Given the description of an element on the screen output the (x, y) to click on. 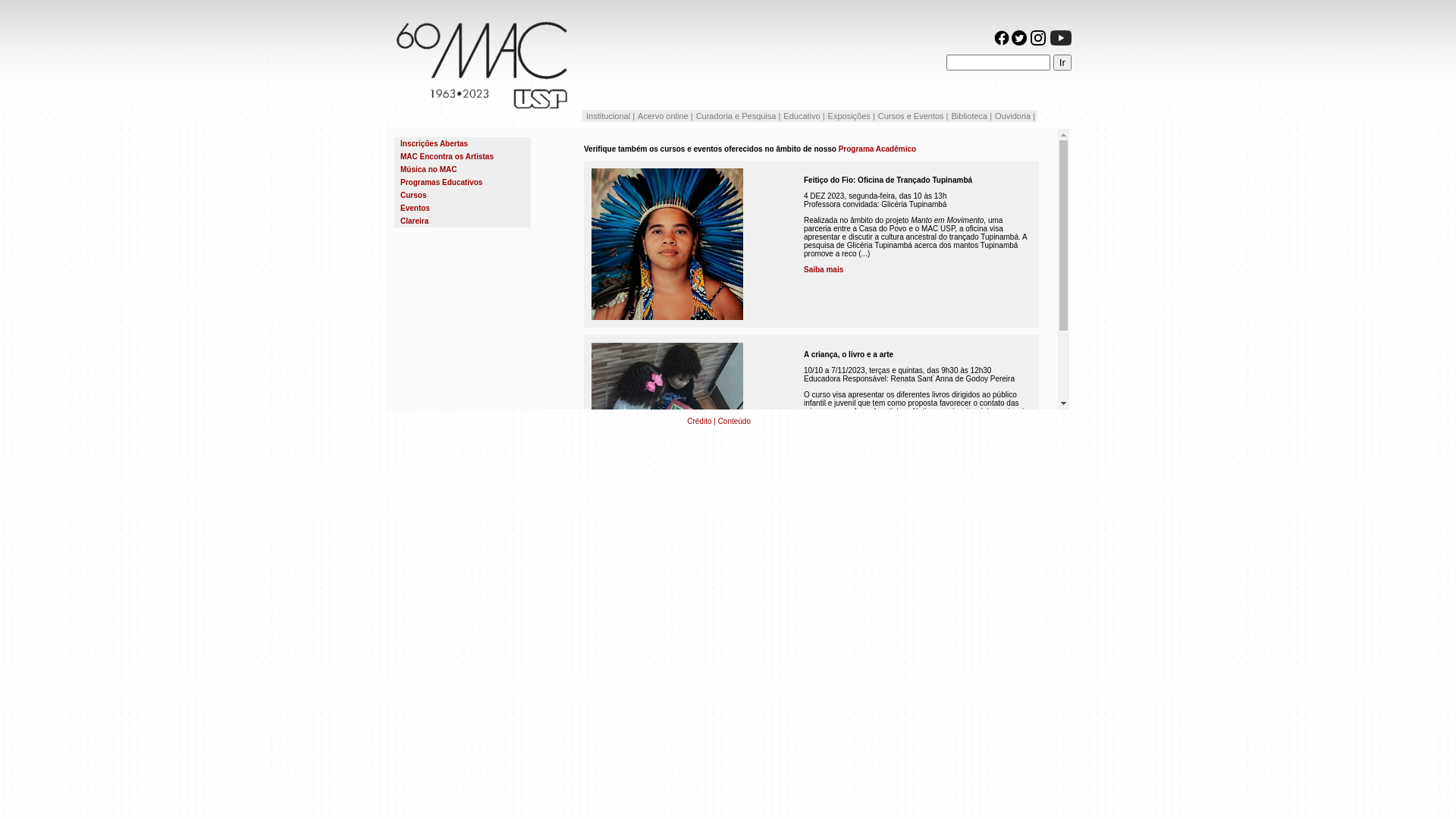
Clareira Element type: text (462, 220)
Saiba mais Element type: text (823, 435)
MAC Encontra os Artistas Element type: text (462, 156)
Educativo | Element type: text (803, 115)
Programas Educativos Element type: text (462, 181)
Saiba mais Element type: text (823, 269)
Cursos e Eventos | Element type: text (913, 115)
Clareira Element type: text (414, 220)
Eventos Element type: text (462, 207)
Biblioteca | Element type: text (971, 115)
Cursos Element type: text (462, 194)
Ouvidoria | Element type: text (1014, 115)
Acervo online | Element type: text (665, 115)
MAC Encontra os Artistas Element type: text (446, 156)
Curadoria e Pesquisa | Element type: text (738, 115)
Programas Educativos Element type: text (441, 182)
Ir Element type: text (1062, 62)
 Institucional | Element type: text (609, 115)
